Given the description of an element on the screen output the (x, y) to click on. 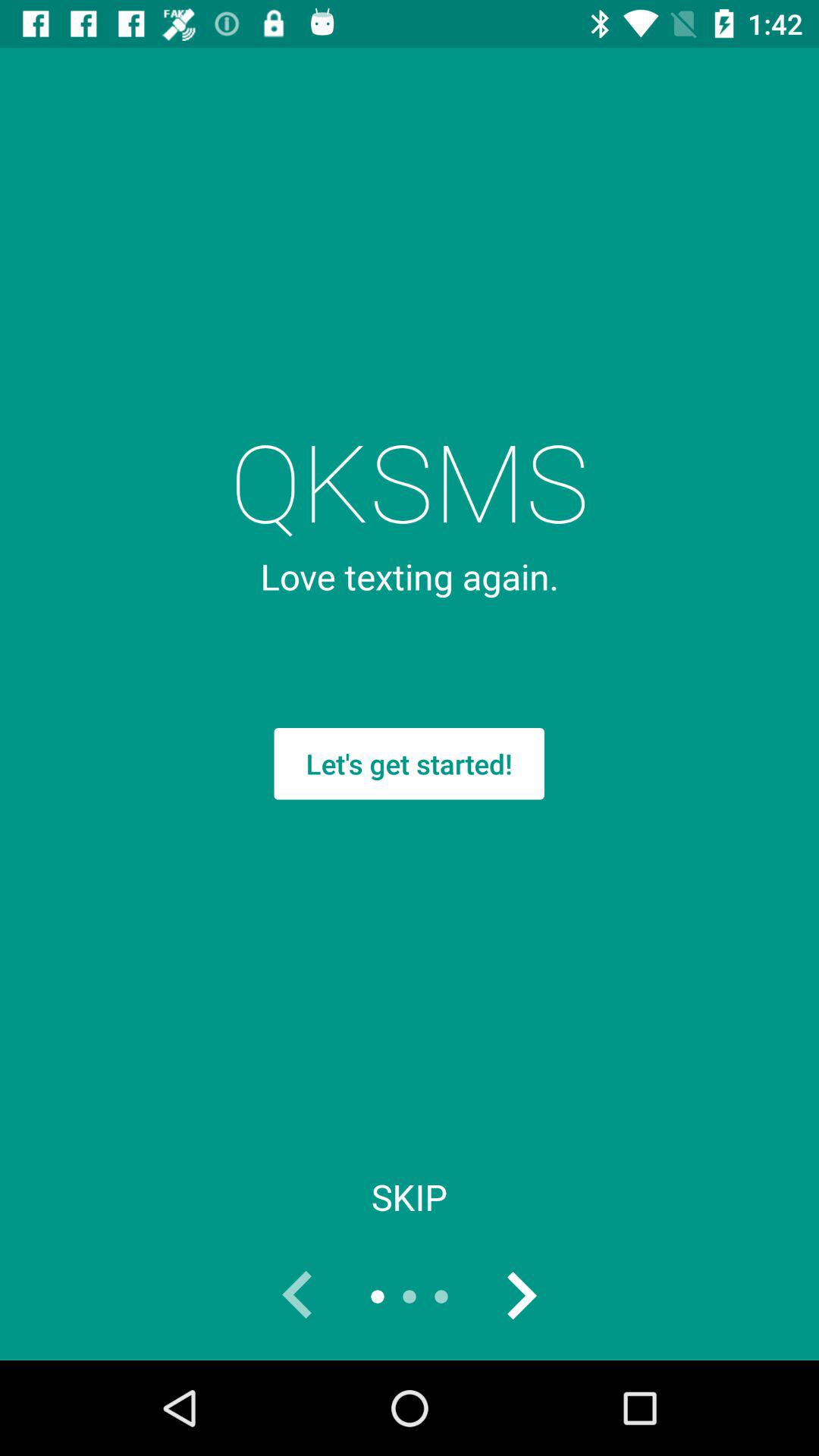
go to next (520, 1296)
